Given the description of an element on the screen output the (x, y) to click on. 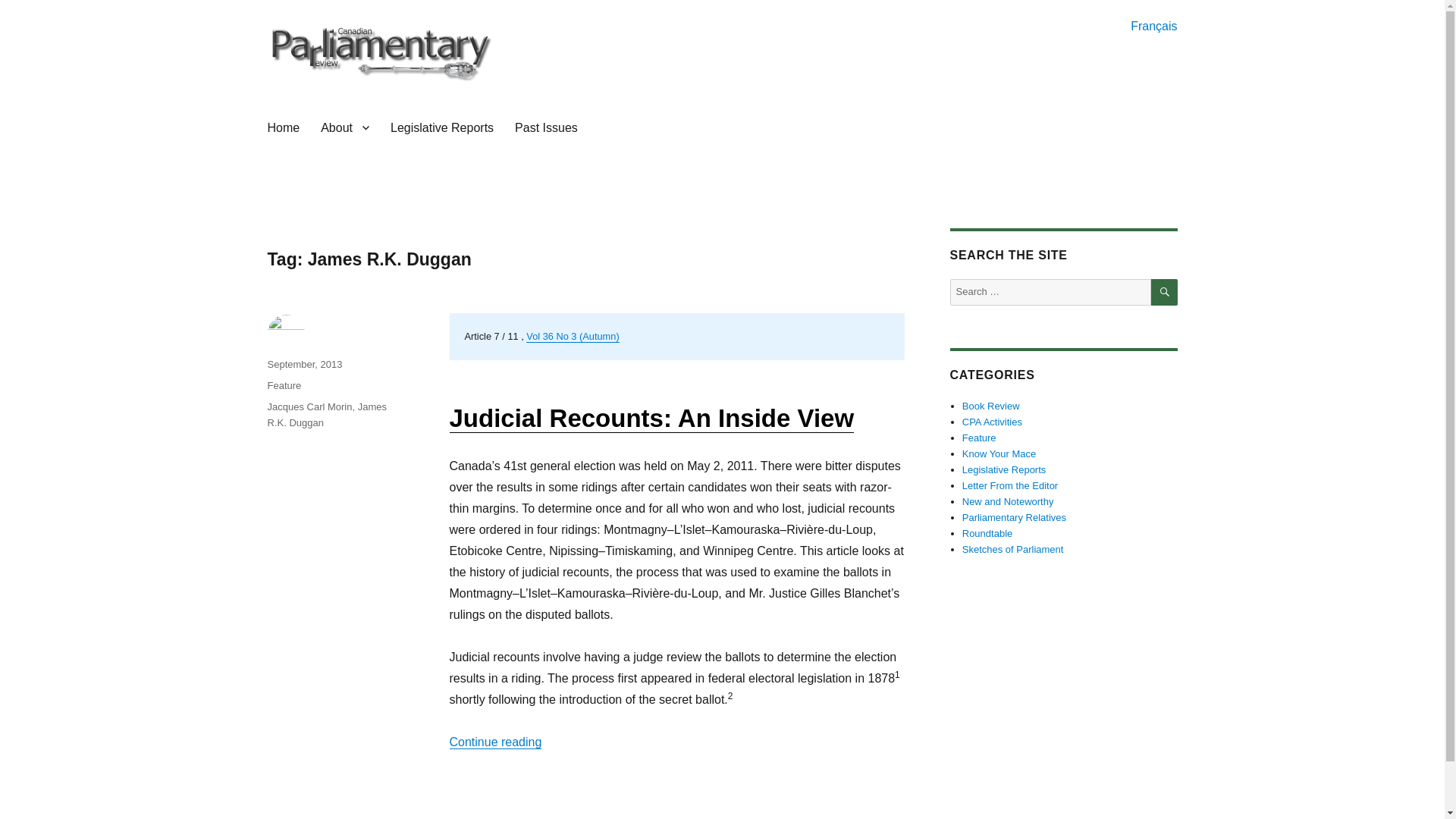
September, 2013 (304, 364)
Past Issues (545, 127)
Legislative Reports (1004, 469)
Feature (283, 385)
Judicial Recounts: An Inside View (650, 418)
New and Noteworthy (1008, 501)
Feature (978, 437)
CPA Activities (992, 421)
Book Review (991, 405)
Legislative Reports (441, 127)
